Given the description of an element on the screen output the (x, y) to click on. 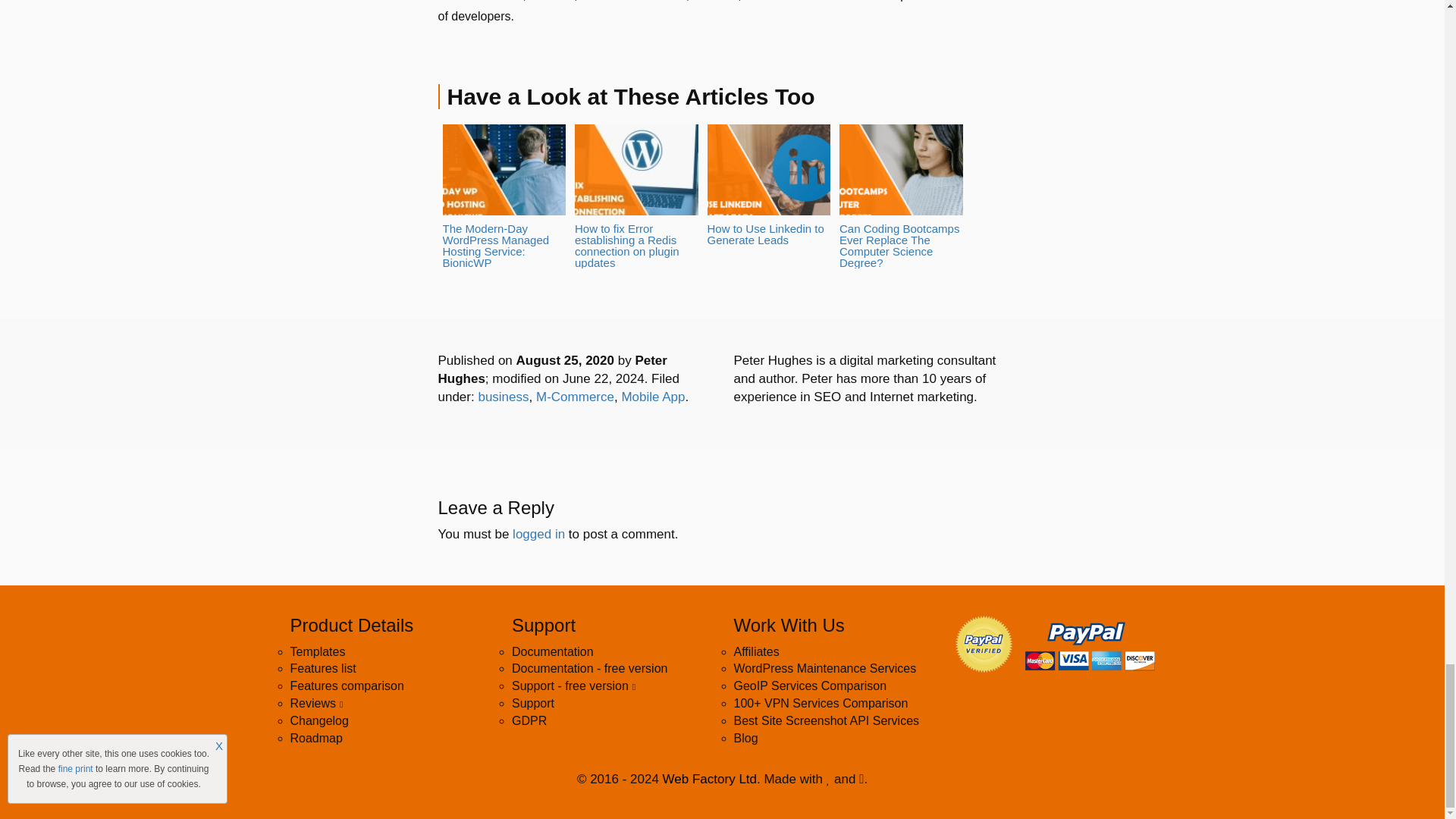
Features comparison (346, 685)
How to Use Linkedin to Generate Leads (767, 184)
Changelog (318, 720)
Documentation - free version (589, 667)
logged in (538, 534)
Features list (322, 667)
Mobile App (652, 396)
Documentation (553, 651)
Templates (317, 651)
business (502, 396)
